Given the description of an element on the screen output the (x, y) to click on. 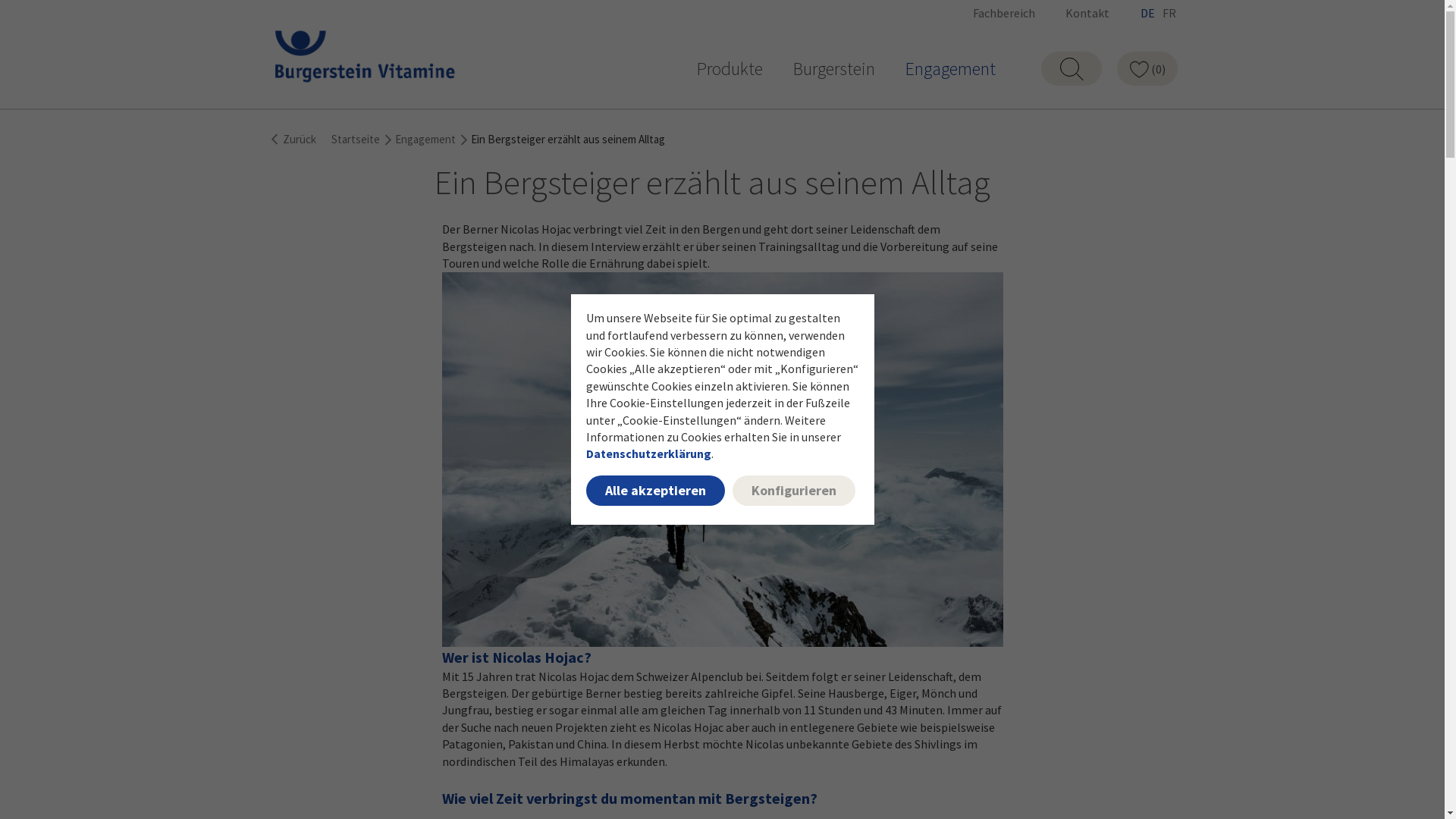
Fachbereich Element type: text (1003, 12)
(0) Element type: text (1146, 68)
Produkte Element type: text (728, 69)
Alle akzeptieren Element type: text (654, 490)
Engagement Element type: text (950, 69)
Kontakt Element type: text (1086, 12)
Burgerstein Element type: text (834, 69)
Engagement Element type: text (424, 138)
Konfigurieren Element type: text (793, 490)
FR Element type: text (1169, 12)
Startseite Element type: text (354, 138)
DE Element type: text (1147, 12)
